Given the description of an element on the screen output the (x, y) to click on. 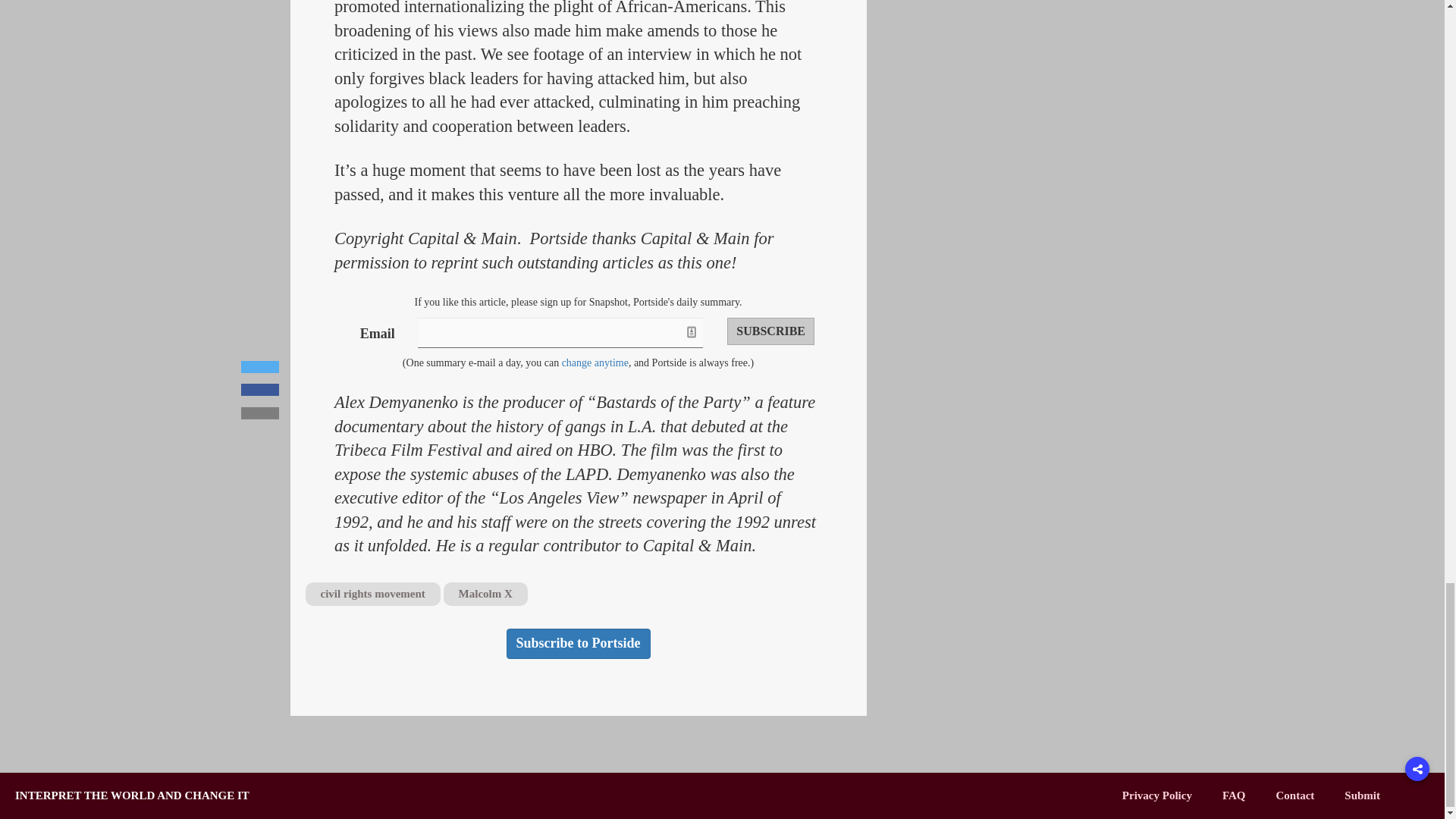
Subscribe (769, 330)
civil rights movement (371, 594)
Subscribe to Portside (578, 643)
Subscribe (769, 330)
Frequently Asked Questions (1234, 795)
change anytime (595, 362)
Malcolm X (485, 594)
Submit an article to Portside (1361, 795)
